Given the description of an element on the screen output the (x, y) to click on. 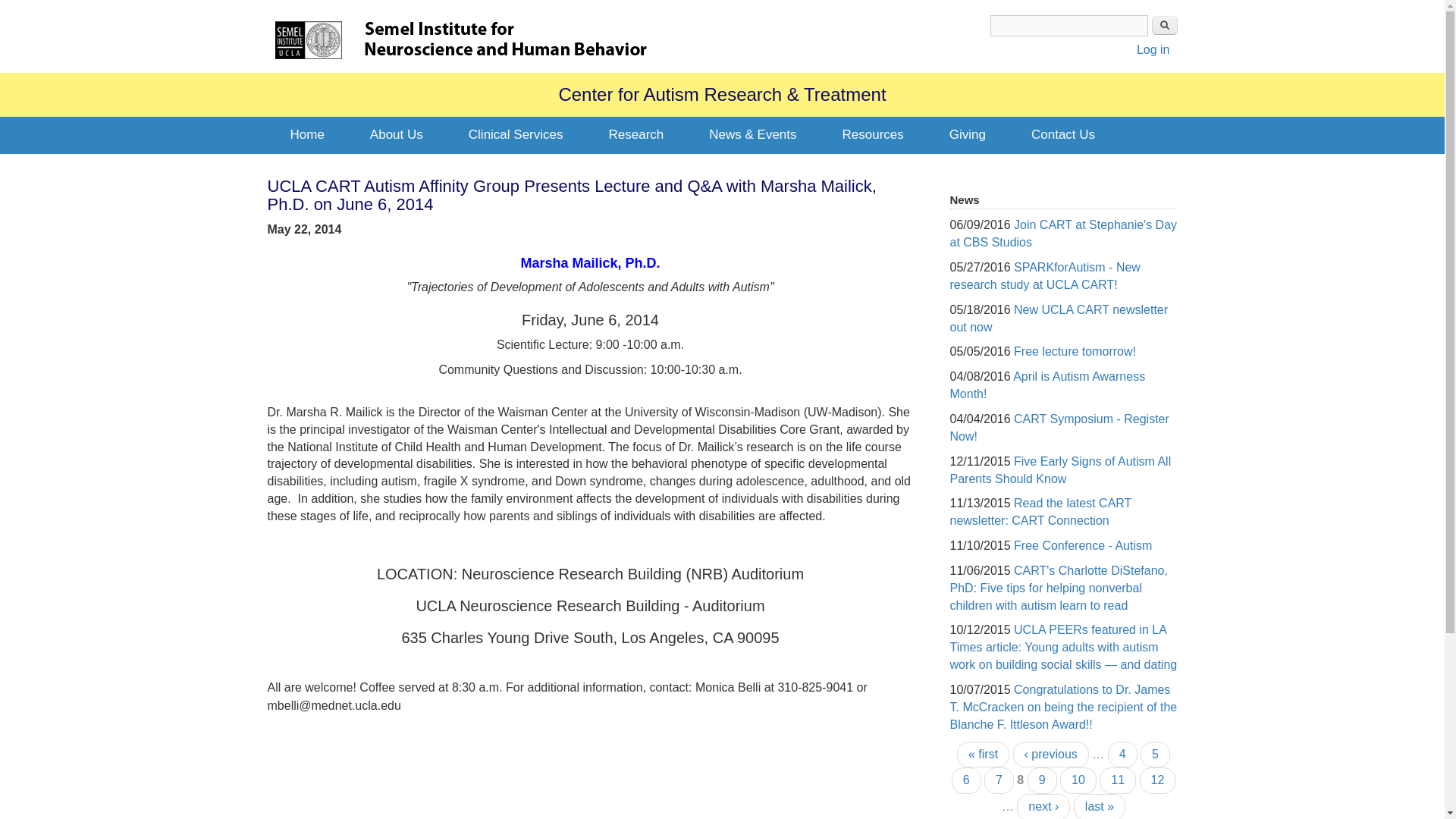
Go to page 12 (1158, 780)
Go to last page (1099, 806)
About Us (396, 135)
Research (635, 135)
Home (306, 135)
Go to previous page (1051, 755)
Go to page 7 (998, 780)
Search (1163, 25)
Log in (1153, 49)
Clinical Services (515, 135)
Go to page 5 (1155, 755)
Resources (872, 135)
Go to page 10 (1077, 780)
Enter the terms you wish to search for. (1069, 25)
Home (308, 38)
